Given the description of an element on the screen output the (x, y) to click on. 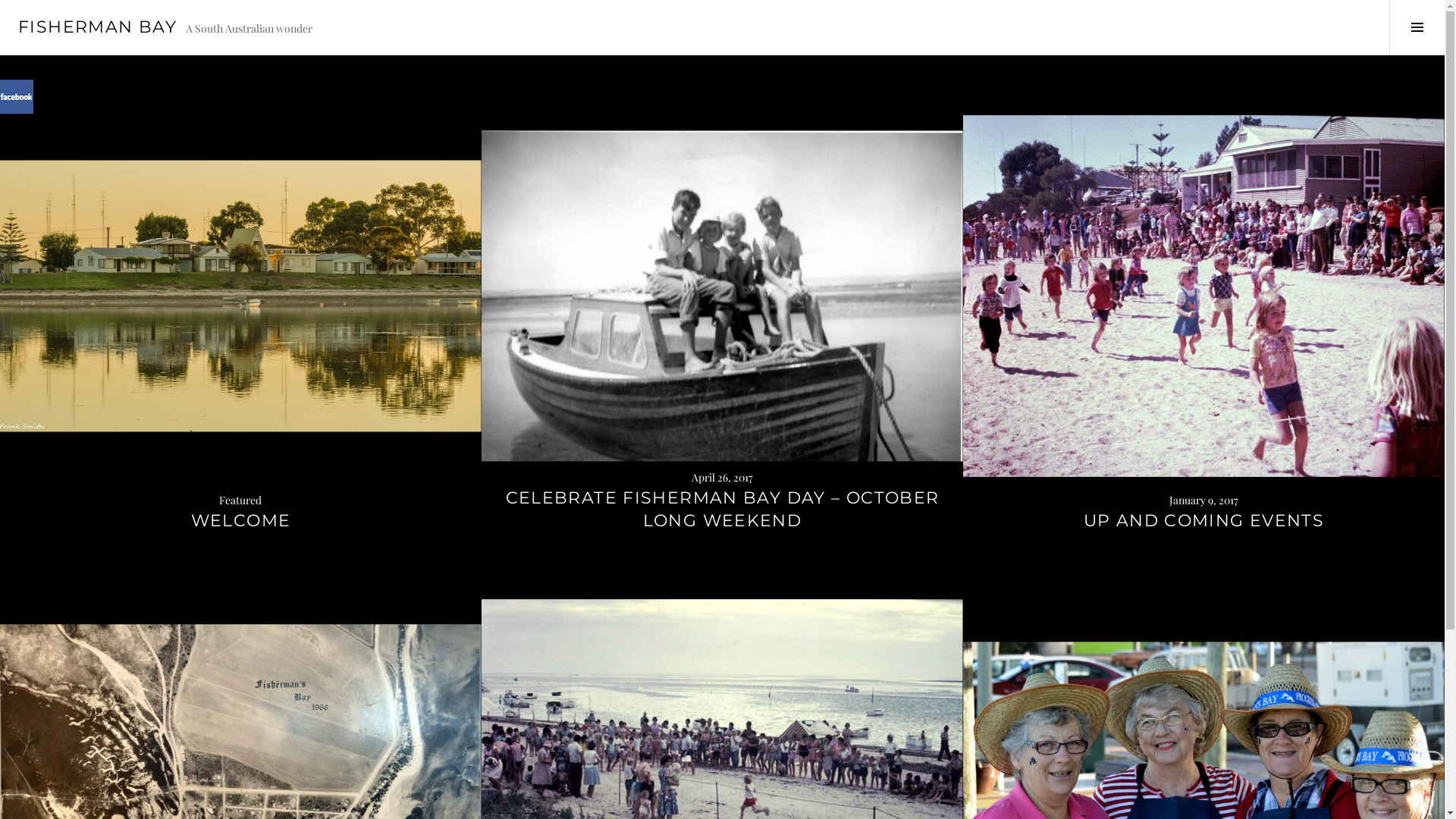
Featured Element type: text (240, 500)
FISHERMAN BAY Element type: text (97, 26)
Toggle Sidebar Element type: text (1416, 27)
UP AND COMING EVENTS Element type: text (1203, 520)
WELCOME Element type: text (240, 520)
April 26, 2017 Element type: text (722, 477)
January 9, 2017 Element type: text (1203, 500)
